Given the description of an element on the screen output the (x, y) to click on. 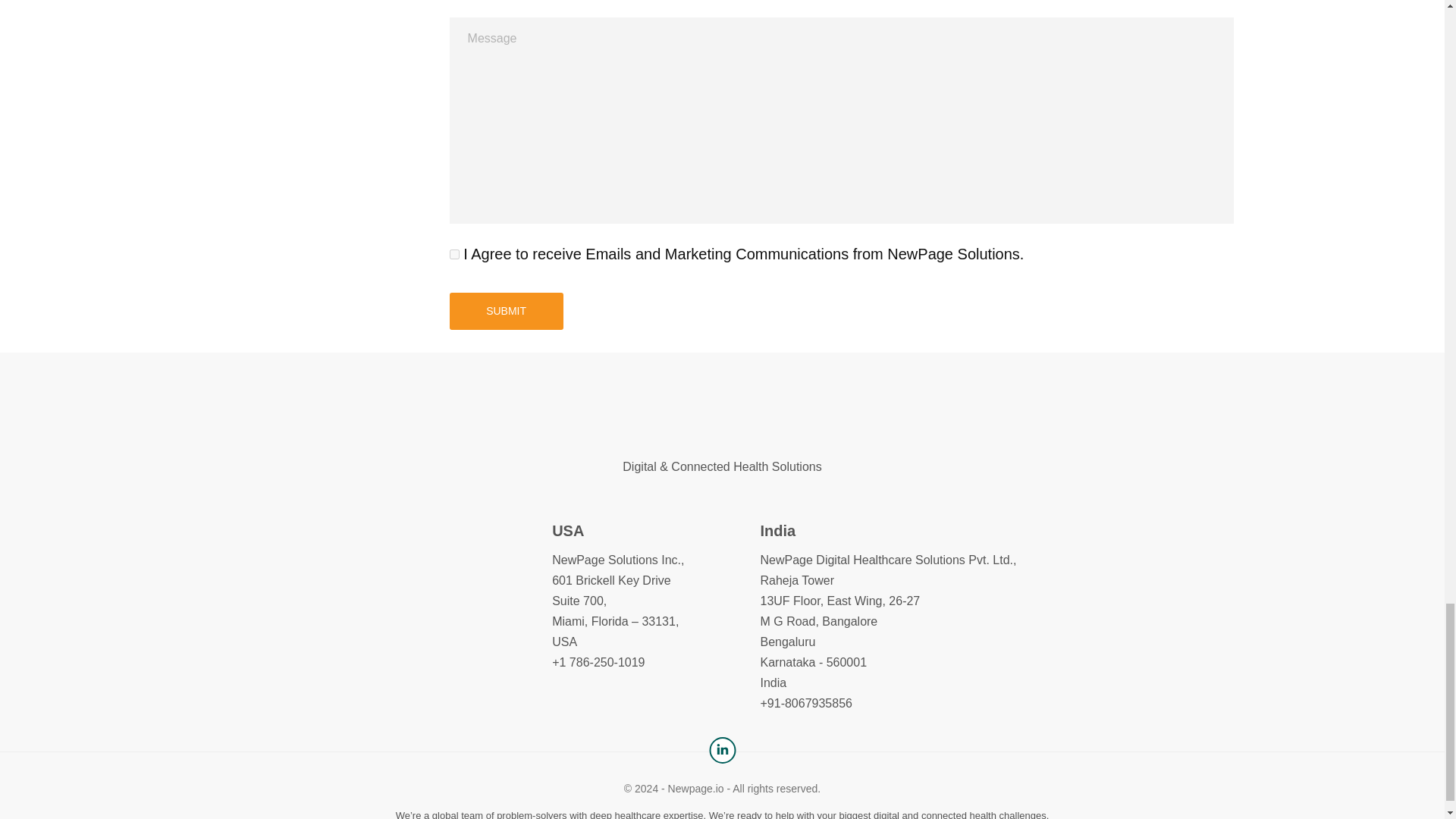
SUBMIT (506, 311)
1 (454, 253)
SUBMIT (506, 311)
